Given the description of an element on the screen output the (x, y) to click on. 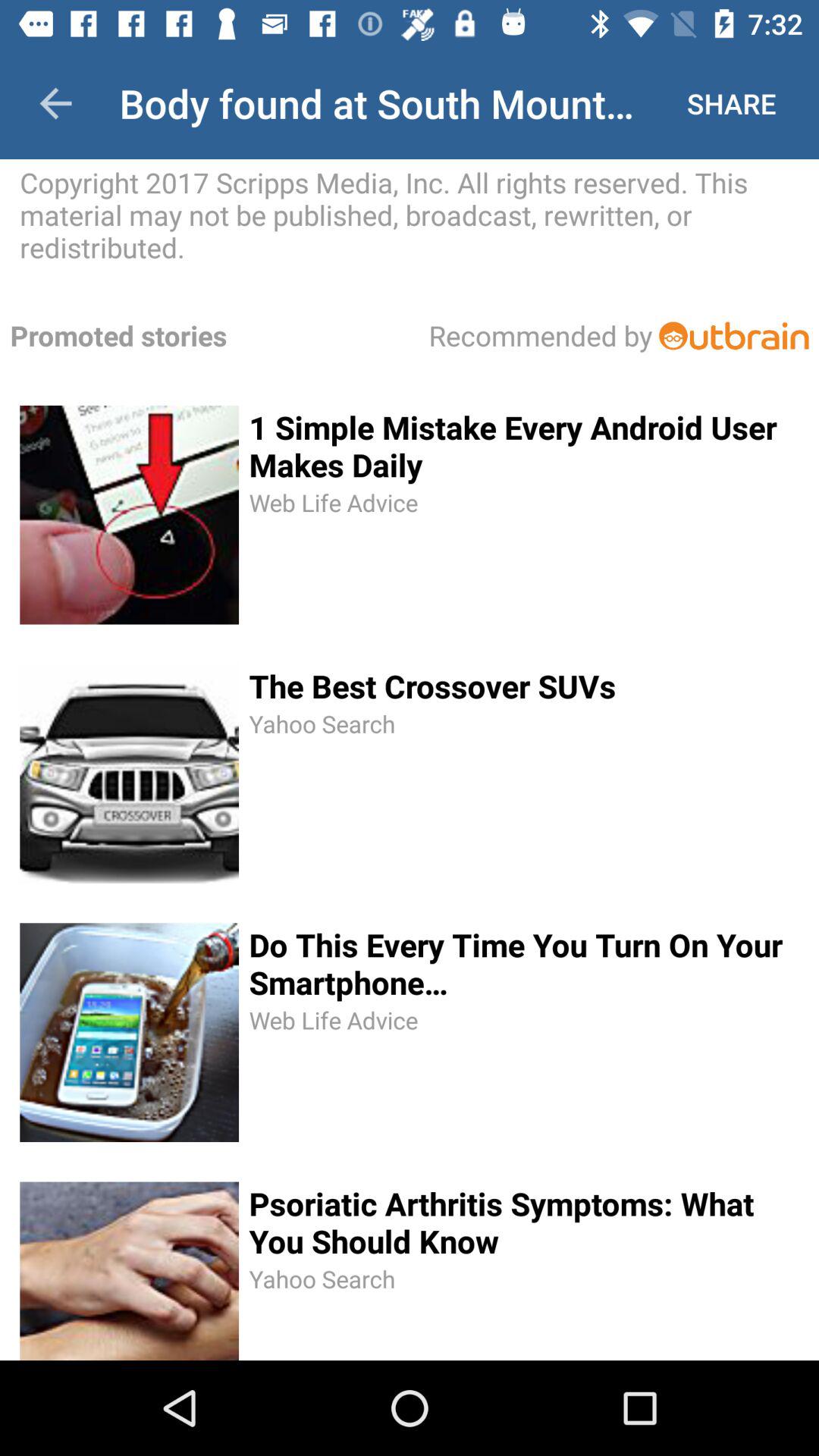
link to advertisement (733, 335)
